Given the description of an element on the screen output the (x, y) to click on. 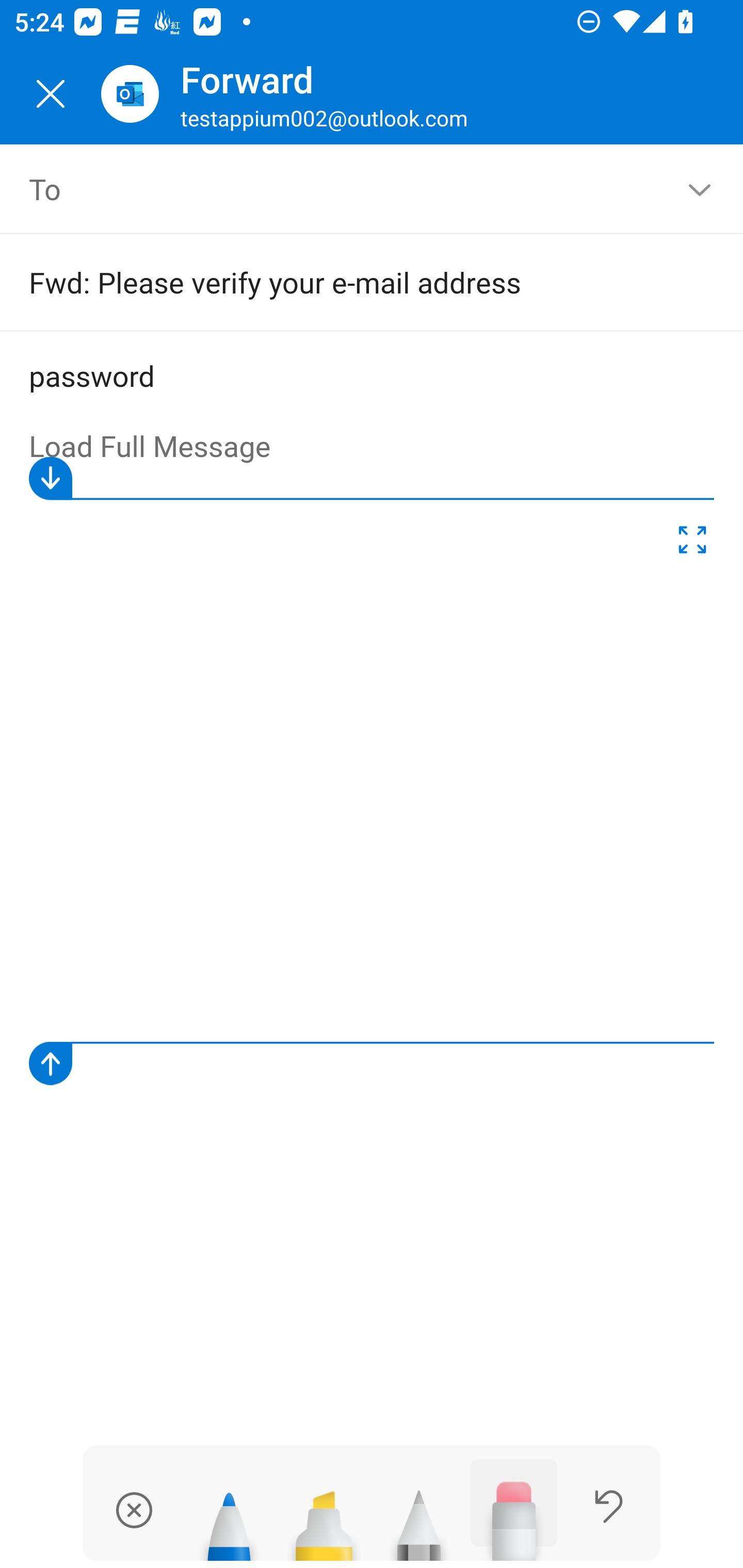
Close (50, 93)
Fwd: Please verify your e-mail address (342, 281)
password (372, 377)
Load Full Message (372, 447)
Canvas upper bound (371, 478)
Expand Drawing (692, 544)
Canvas Lower Bound (371, 1063)
Eraser tool (513, 1509)
Undo last stroke (608, 1505)
dismiss ink and save drawing (133, 1510)
Pen tool (228, 1517)
Highlighter tool (323, 1517)
Pencil tool (418, 1517)
